Given the description of an element on the screen output the (x, y) to click on. 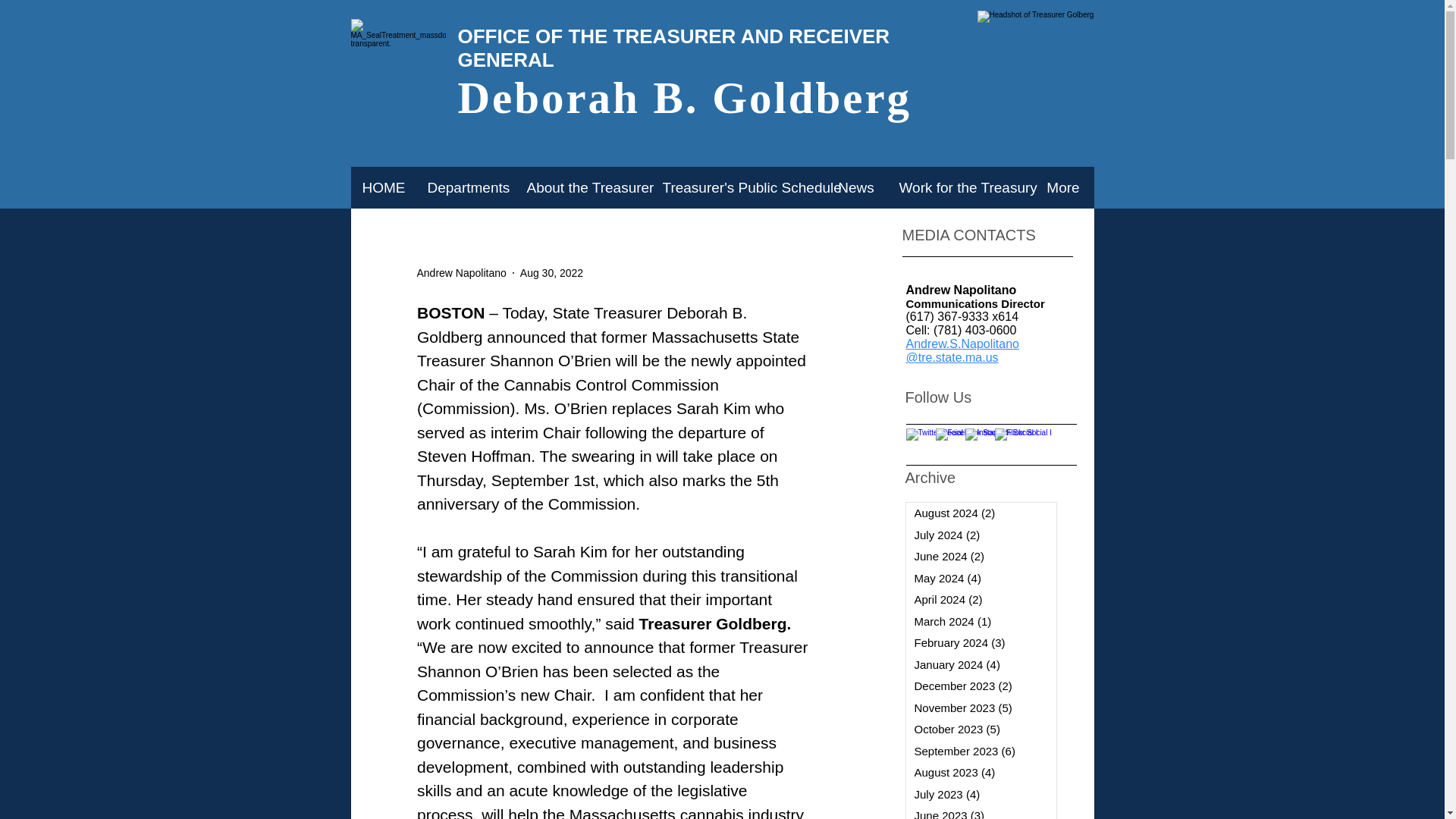
Andrew.S.Napolitano (961, 343)
News (855, 187)
Work for the Treasury (959, 187)
Andrew Napolitano (461, 273)
Departments (464, 187)
HOME (382, 187)
About the Treasurer (581, 187)
OFFICE OF THE TREASURER AND RECEIVER GENERAL (673, 48)
Aug 30, 2022 (551, 272)
Treasurer's Public Schedule (737, 187)
